Given the description of an element on the screen output the (x, y) to click on. 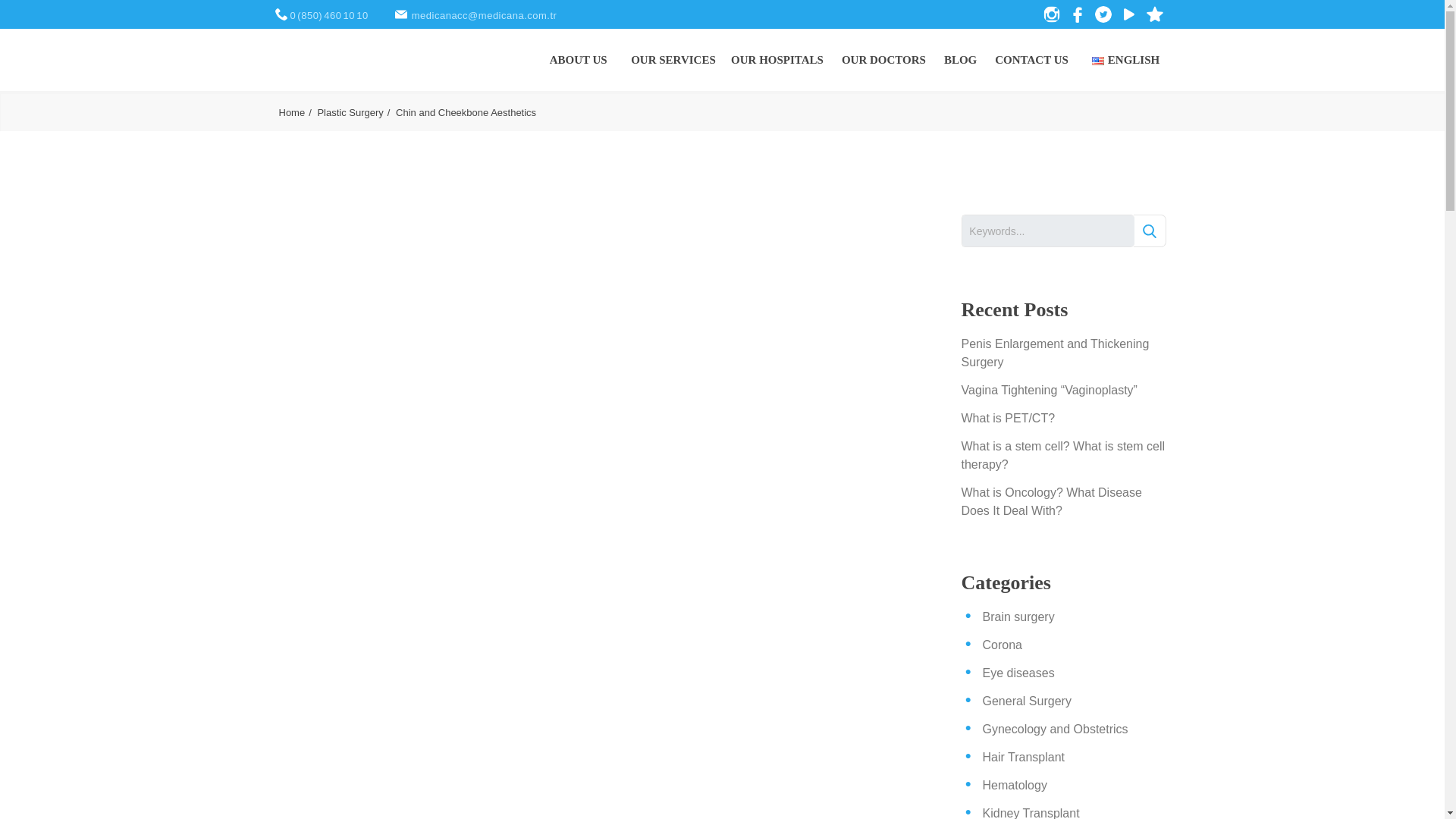
Home (296, 112)
ENGLISH (1126, 59)
OUR SERVICES (673, 59)
Yandex (402, 14)
OUR HOSPITALS (777, 59)
149852 (1148, 230)
Plastic Surgery (355, 112)
CONTACT US (1031, 59)
OUR DOCTORS (883, 59)
telephone-1 (282, 14)
